Given the description of an element on the screen output the (x, y) to click on. 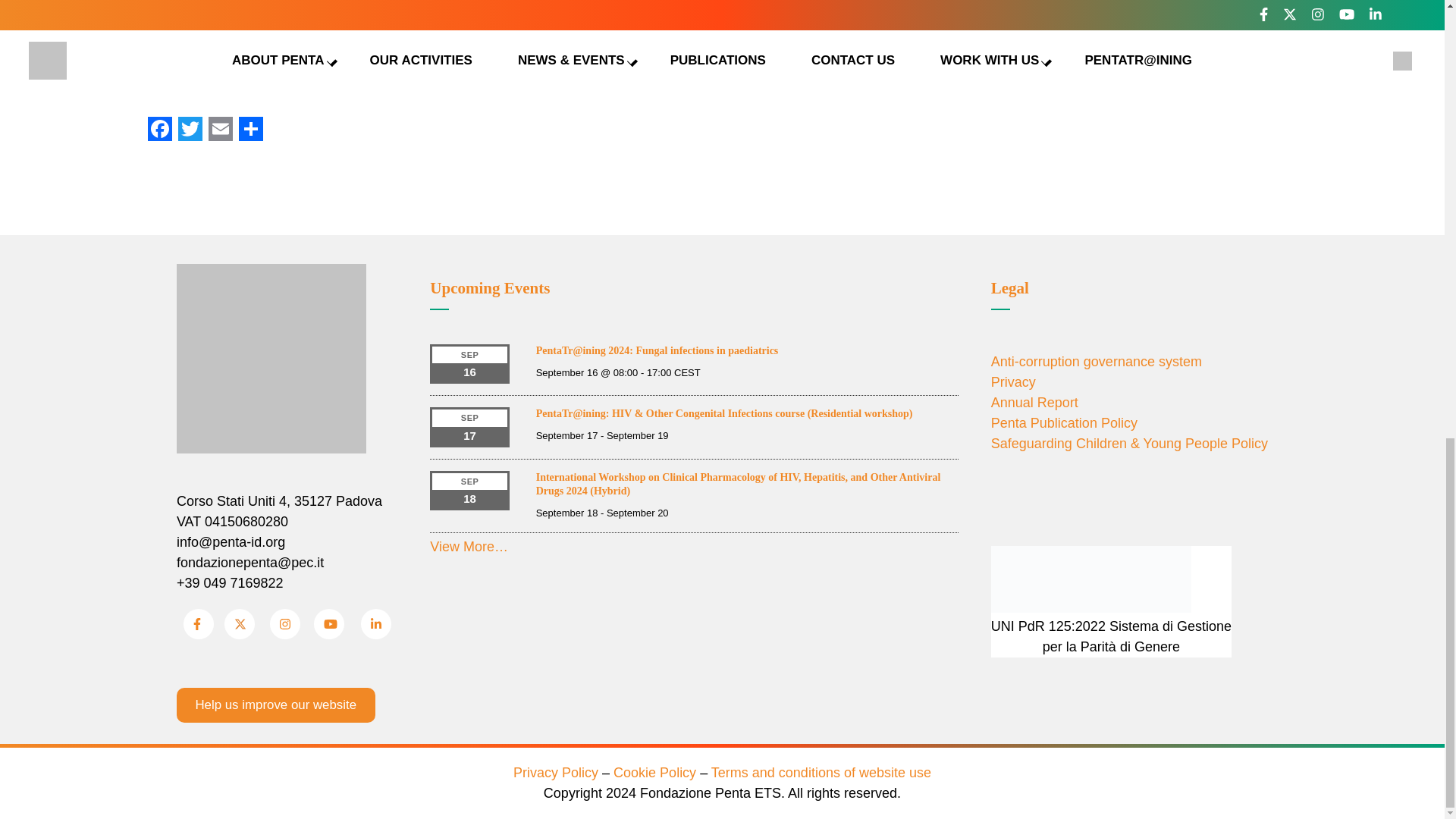
Facebook (159, 128)
Email (219, 128)
Twitter (189, 128)
Twitter (189, 128)
Email (219, 128)
Read the full article here (223, 18)
Facebook (159, 128)
